Given the description of an element on the screen output the (x, y) to click on. 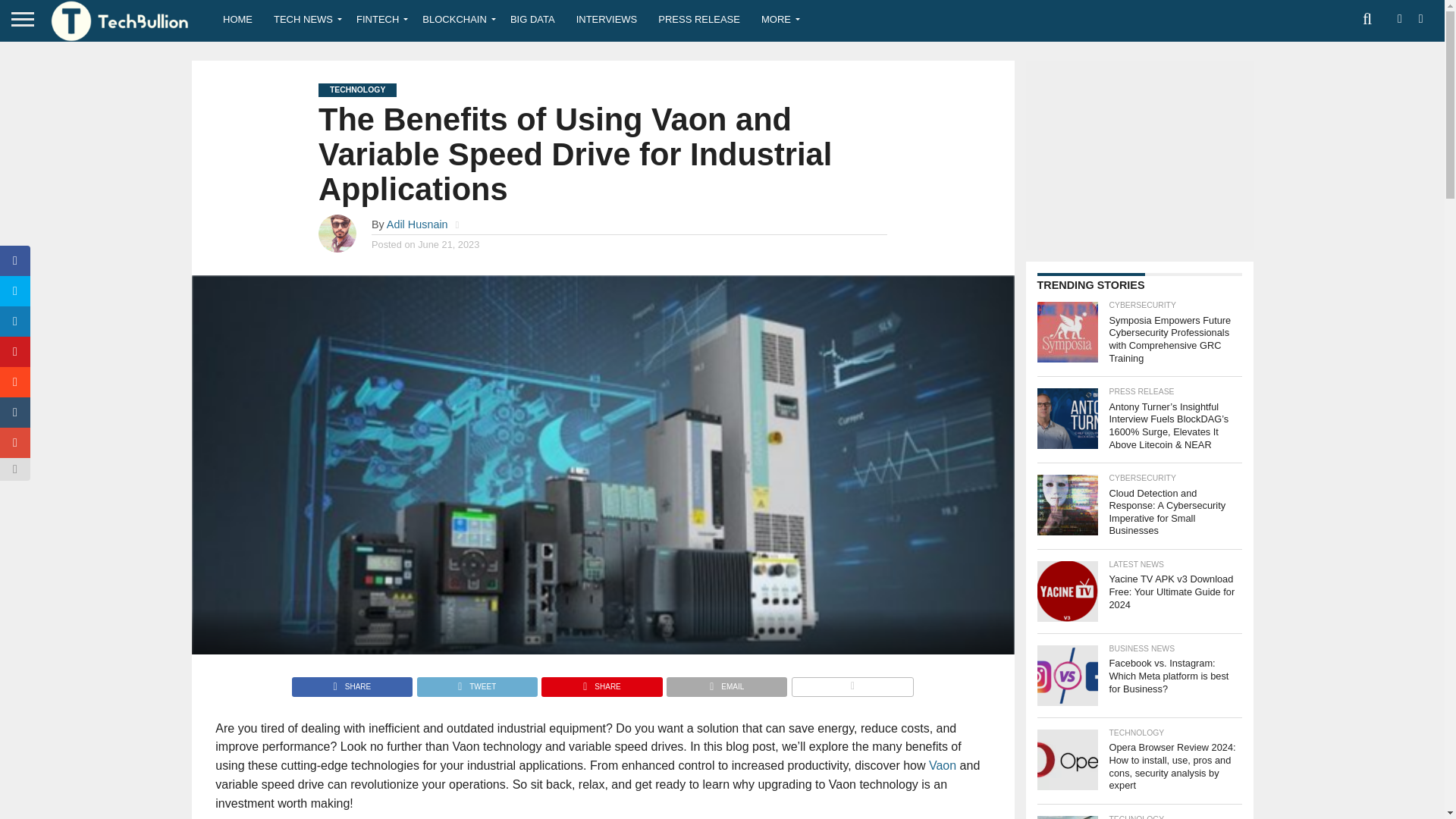
Tweet This Post (476, 682)
Share on Facebook (352, 682)
Pin This Post (601, 682)
Posts by Adil Husnain (417, 224)
